Given the description of an element on the screen output the (x, y) to click on. 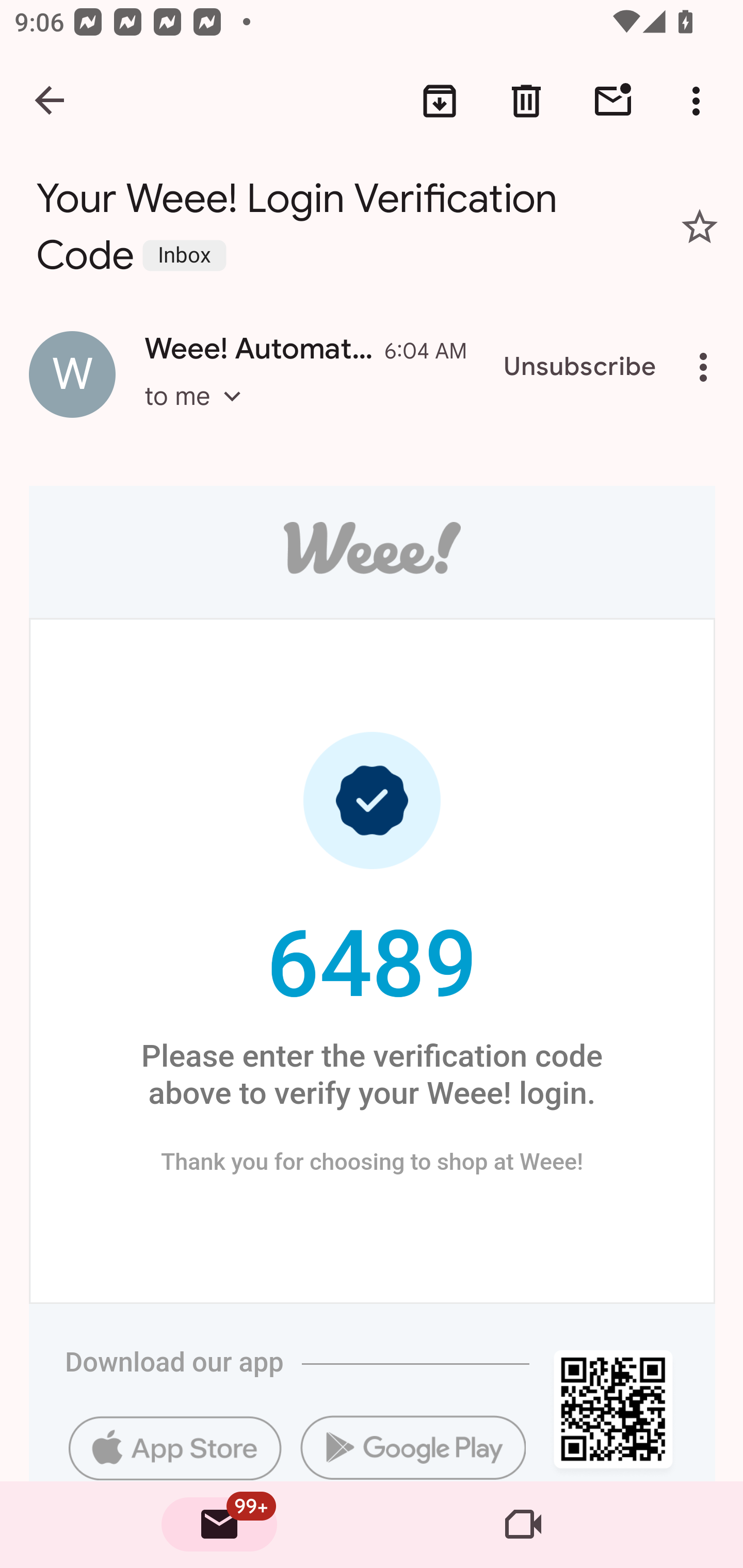
Navigate up (50, 101)
Archive (439, 101)
Delete (525, 101)
Mark unread (612, 101)
More options (699, 101)
Add star (699, 226)
Customize (217, 253)
Unsubscribe (579, 367)
More options (706, 367)
to me (199, 414)
Meet (523, 1524)
